Given the description of an element on the screen output the (x, y) to click on. 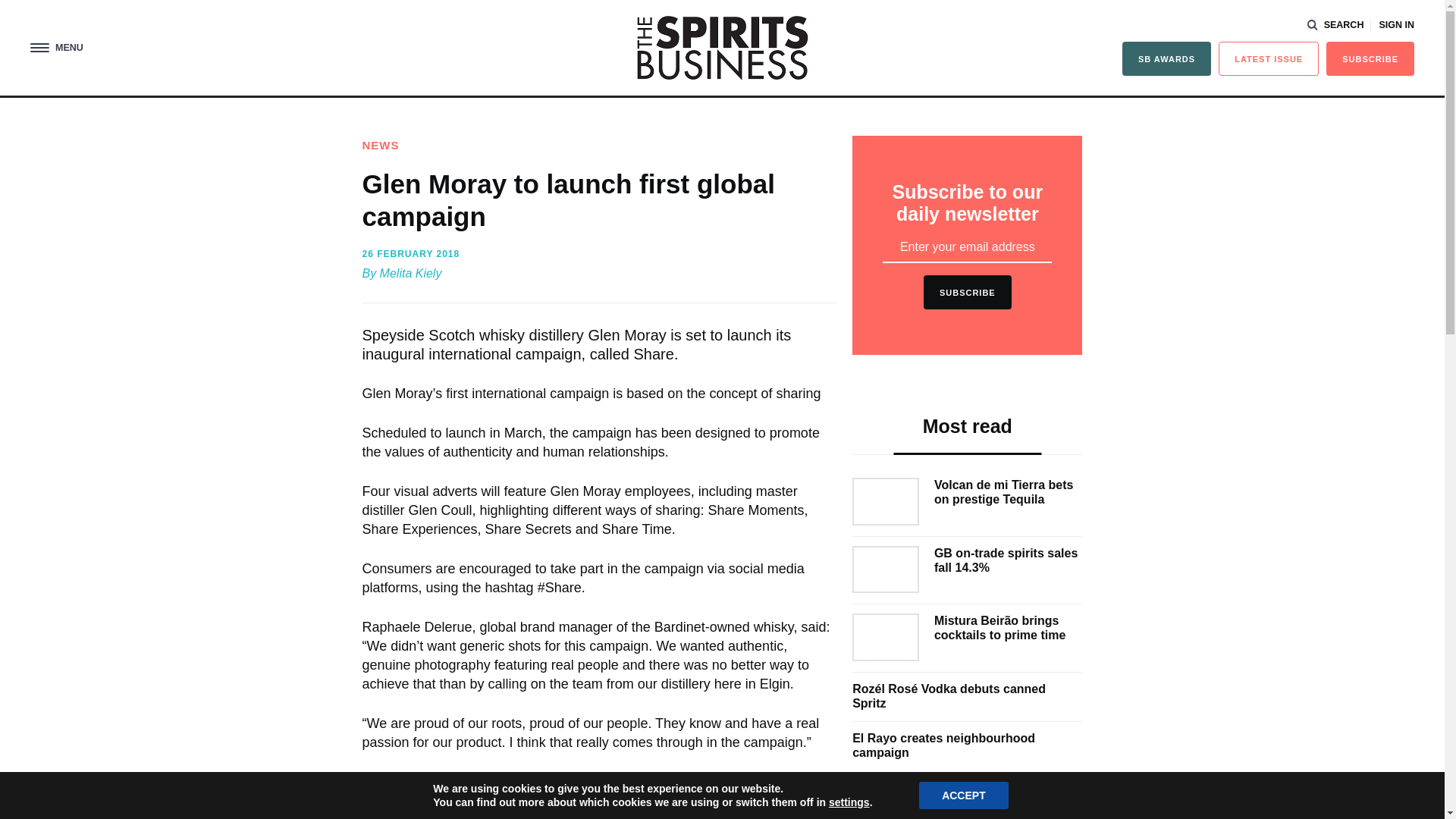
SB AWARDS (1166, 58)
The Spirits Business (722, 47)
SUBSCRIBE (1369, 58)
LATEST ISSUE (1268, 58)
SIGN IN (1395, 25)
